Given the description of an element on the screen output the (x, y) to click on. 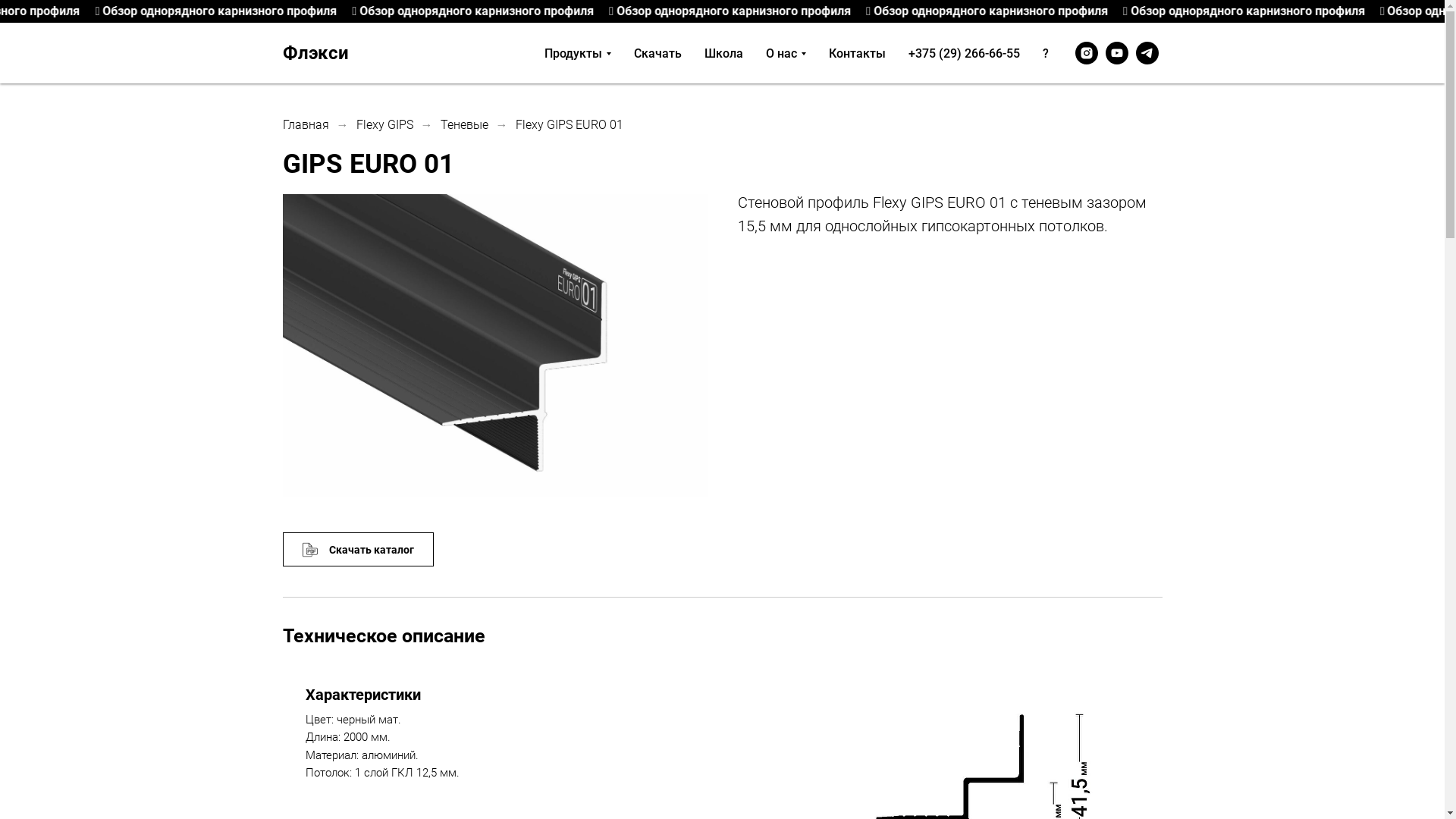
+375 (29) 266-66-55 Element type: text (963, 52)
Flexy GIPS Element type: text (384, 124)
? Element type: text (1044, 52)
